Given the description of an element on the screen output the (x, y) to click on. 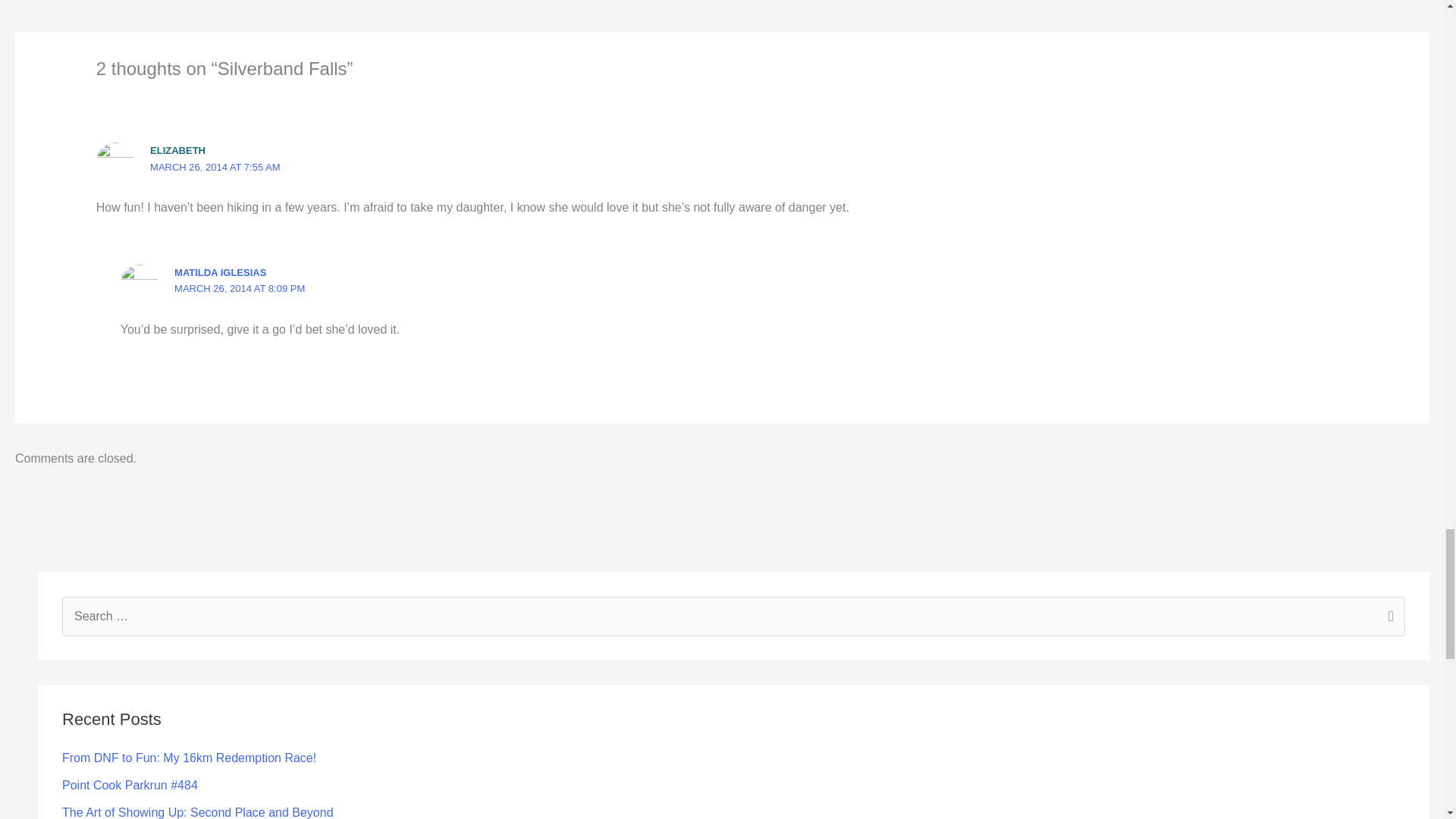
MATILDA IGLESIAS (220, 272)
MARCH 26, 2014 AT 8:09 PM (239, 288)
MARCH 26, 2014 AT 7:55 AM (215, 165)
